Given the description of an element on the screen output the (x, y) to click on. 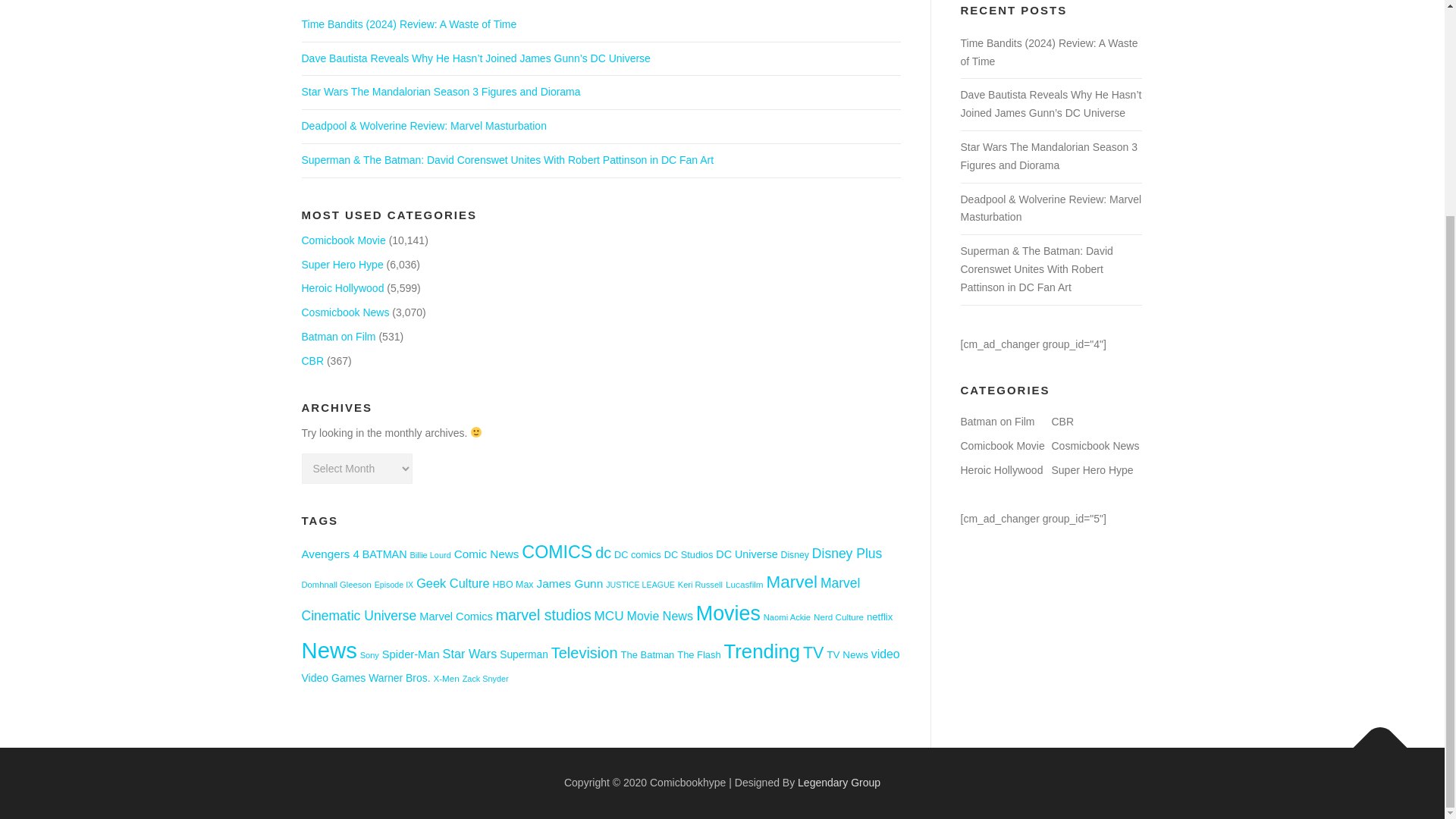
DC Universe (746, 553)
Episode IX (393, 583)
Billie Lourd (429, 554)
James Gunn (568, 583)
Lucasfilm (743, 583)
JUSTICE LEAGUE (640, 583)
Avengers 4 (330, 553)
Disney (794, 554)
Keri Russell (700, 583)
HBO Max (513, 584)
Marvel (791, 581)
Domhnall Gleeson (336, 583)
Comic News (486, 553)
Super Hero Hype (342, 264)
Cosmicbook News (345, 312)
